Given the description of an element on the screen output the (x, y) to click on. 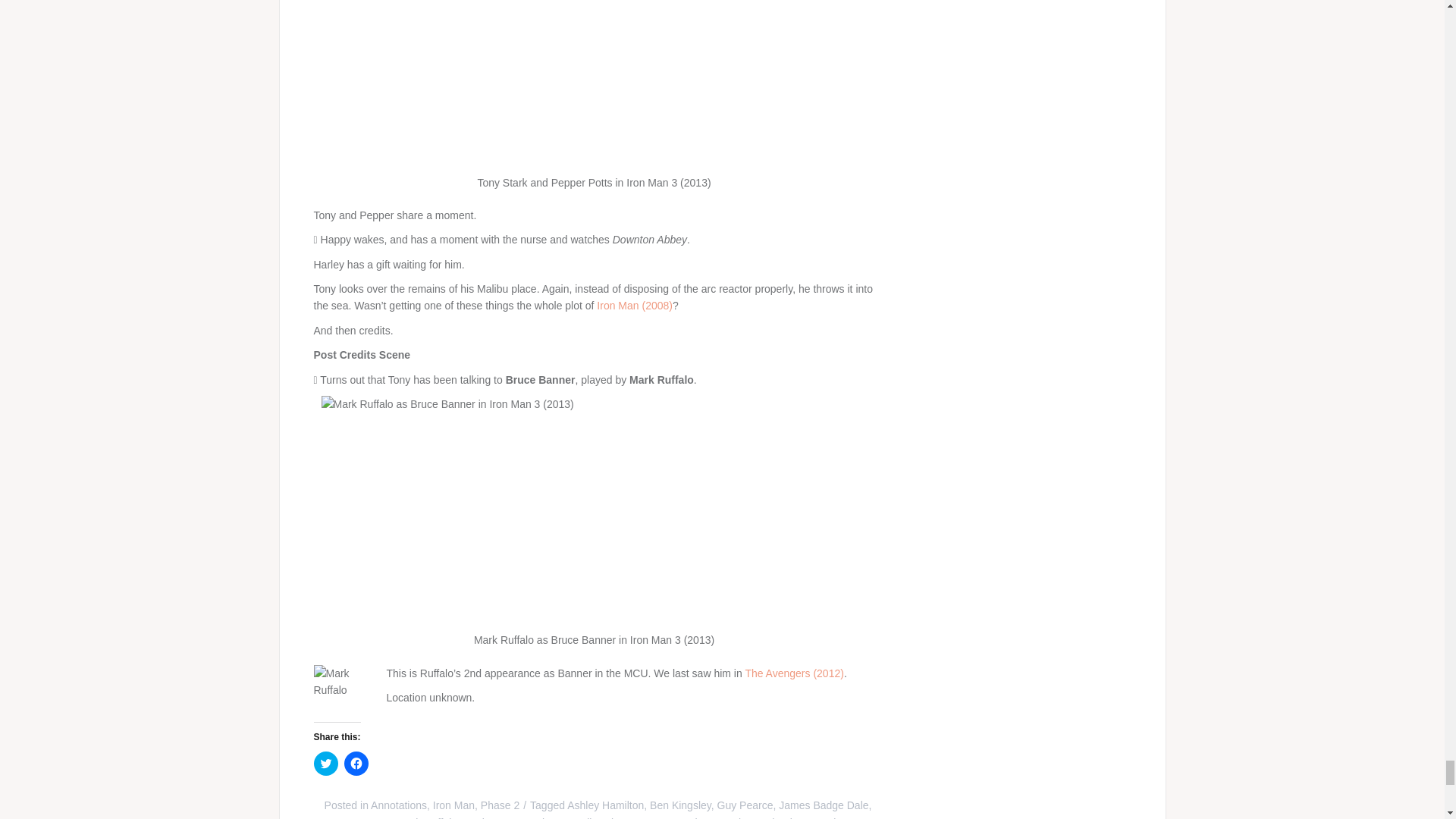
Click to share on Facebook (355, 763)
Click to share on Twitter (325, 763)
